Given the description of an element on the screen output the (x, y) to click on. 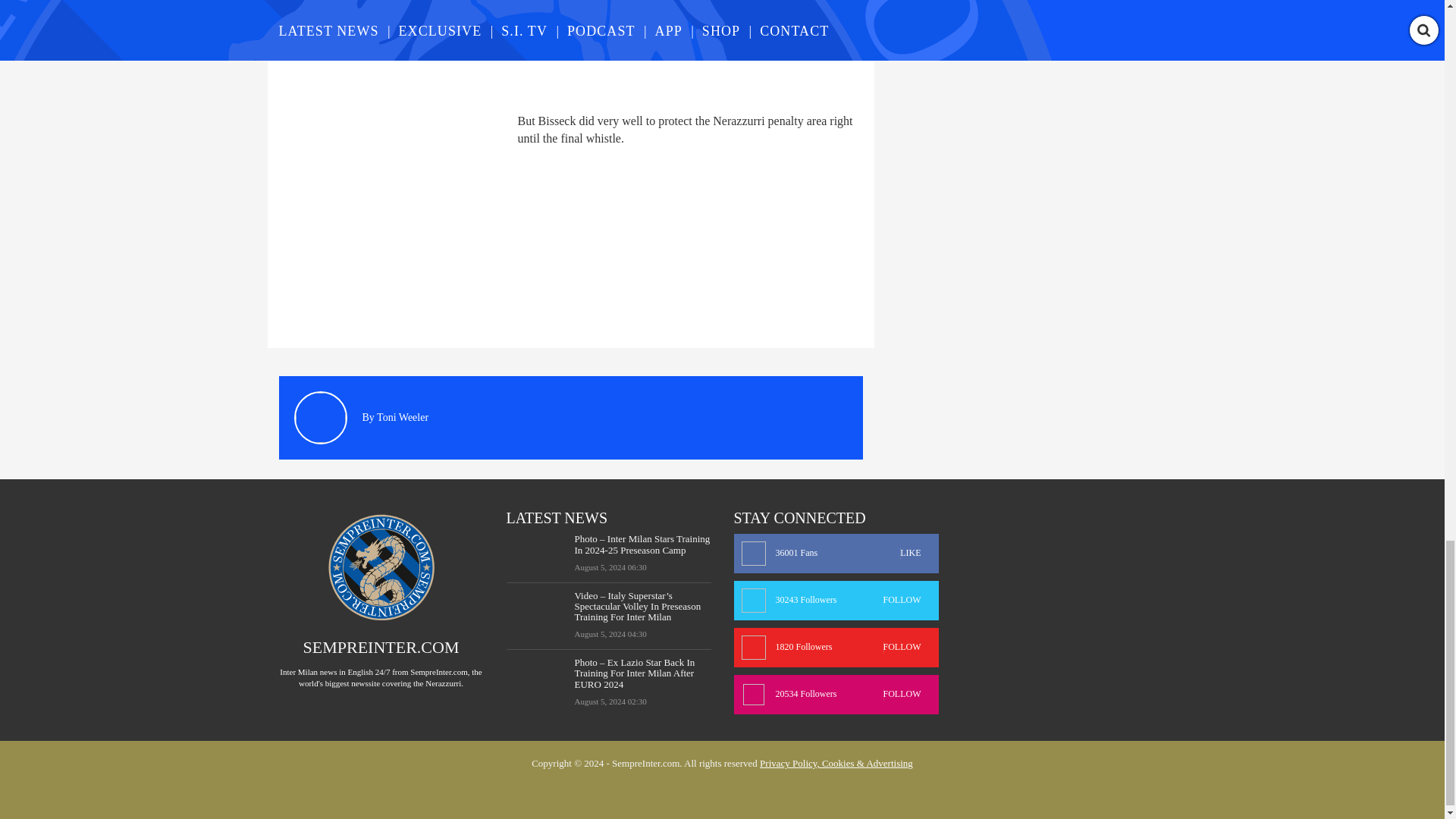
Toni Weeler (402, 417)
SEMPREINTER.COM (381, 647)
View more articles by Toni Weeler (402, 417)
YouTube video player (491, 47)
